Given the description of an element on the screen output the (x, y) to click on. 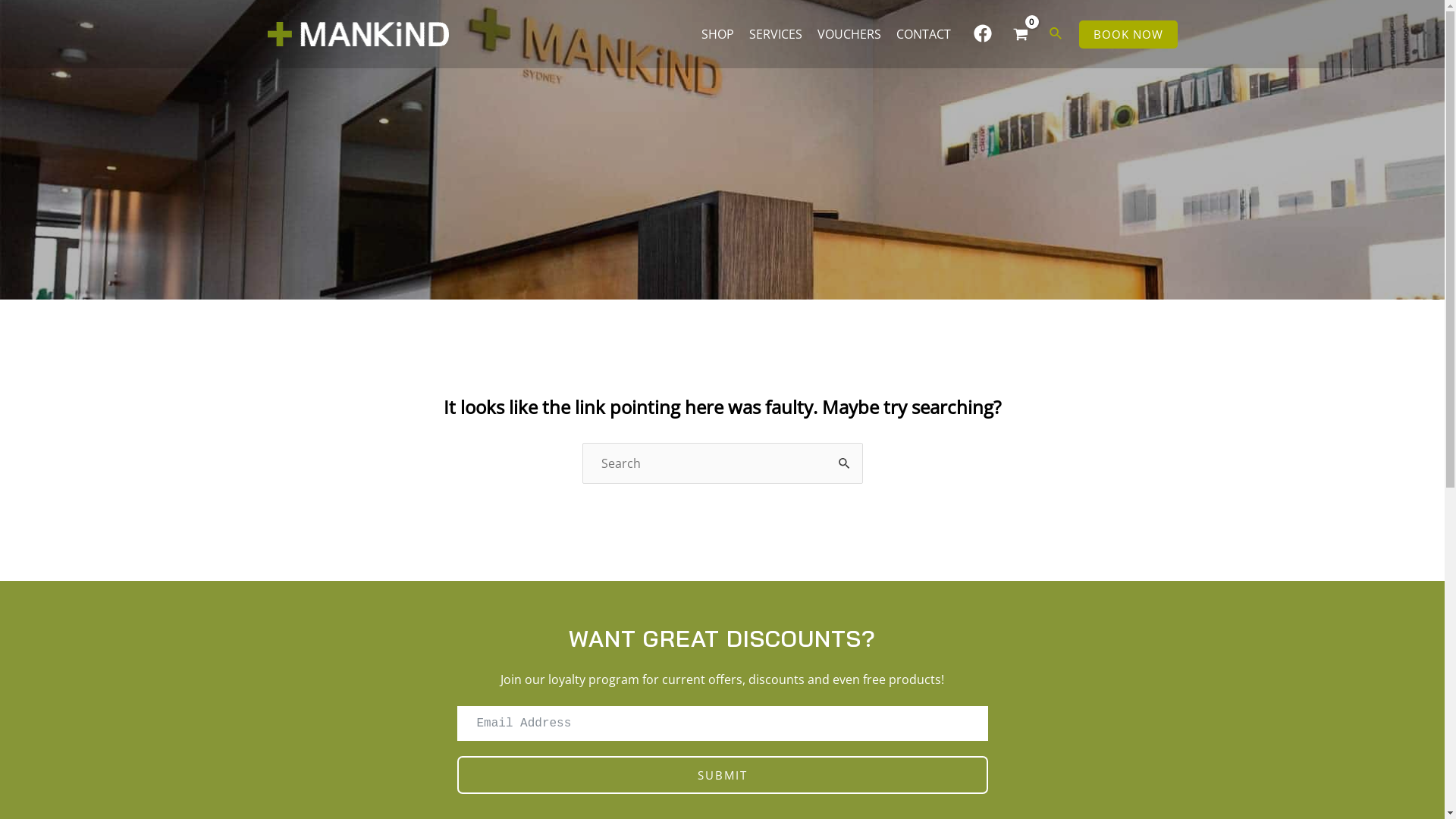
Search Element type: text (1056, 33)
SERVICES Element type: text (775, 34)
Search Element type: text (845, 458)
CONTACT Element type: text (923, 34)
SHOP Element type: text (717, 34)
BOOK NOW Element type: text (1127, 33)
VOUCHERS Element type: text (848, 34)
SUBMIT Element type: text (721, 775)
